Given the description of an element on the screen output the (x, y) to click on. 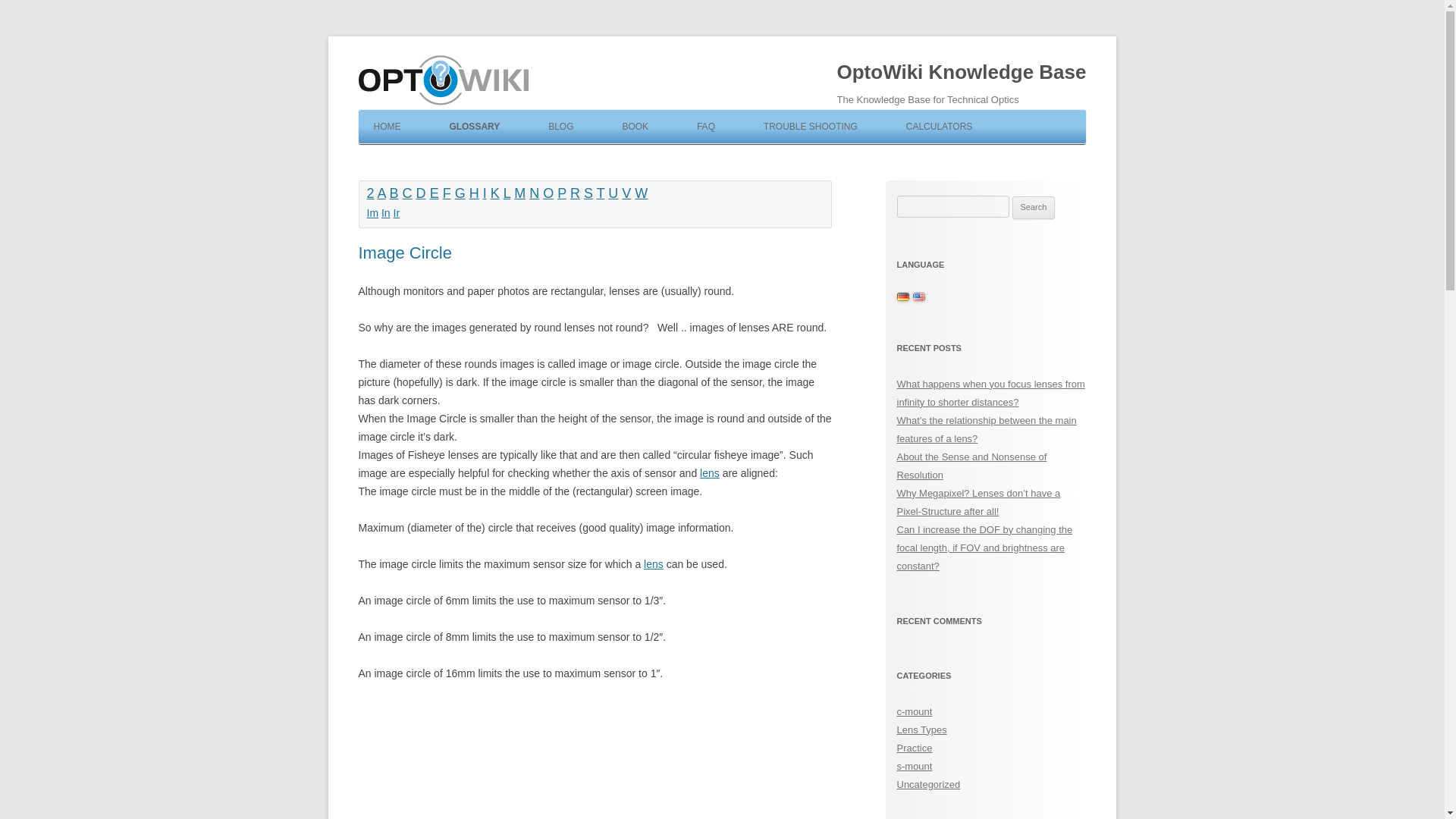
CHAPTER 01: INTRODUCTION (682, 159)
BLOG (552, 126)
BOOK (627, 126)
FAQ : OBJECTIVES (756, 159)
FAQ (697, 126)
OptoWiki Knowledge Base (961, 72)
Search (1033, 207)
HOME (379, 126)
